Given the description of an element on the screen output the (x, y) to click on. 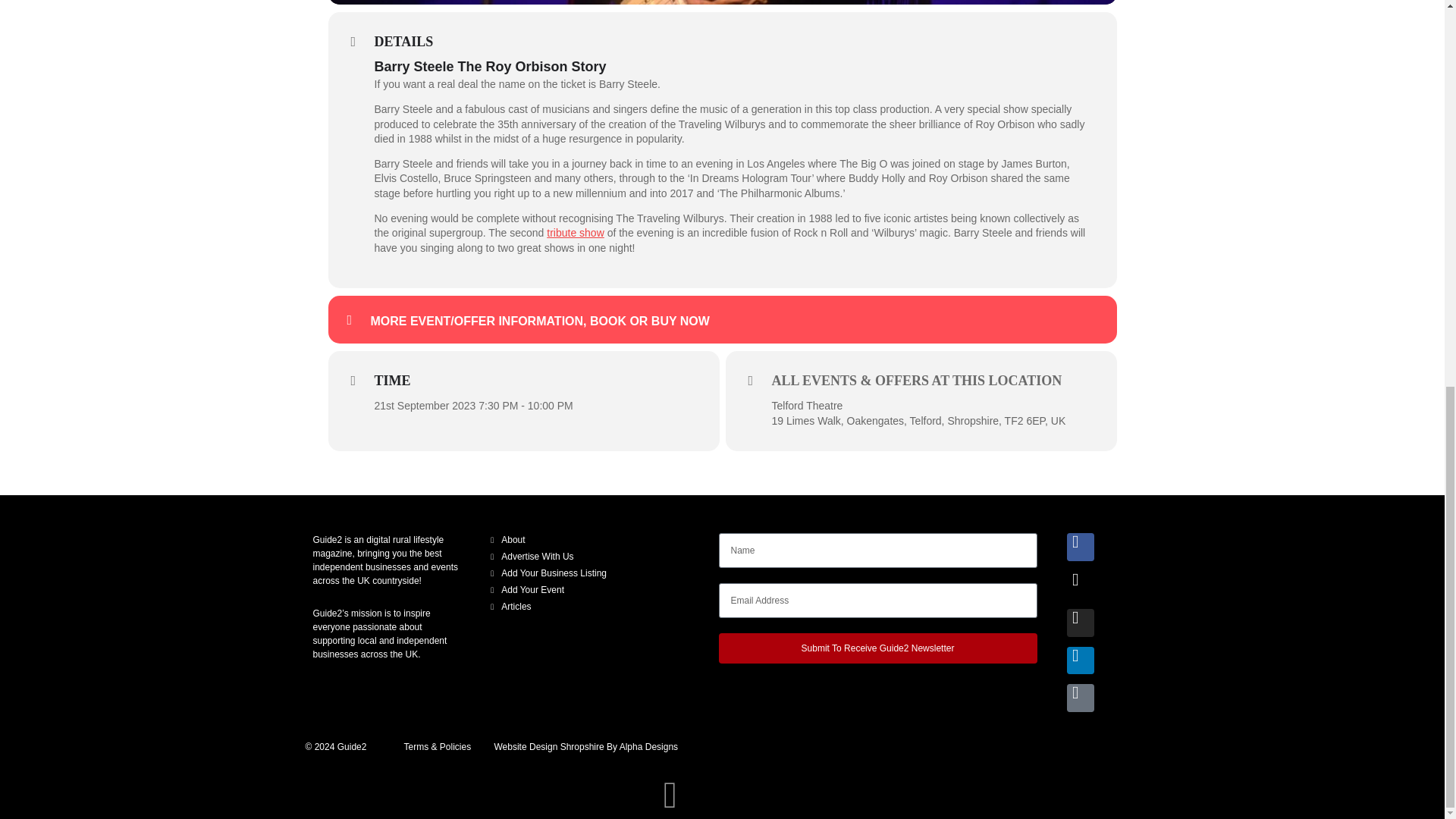
Jump To Top (670, 63)
